Given the description of an element on the screen output the (x, y) to click on. 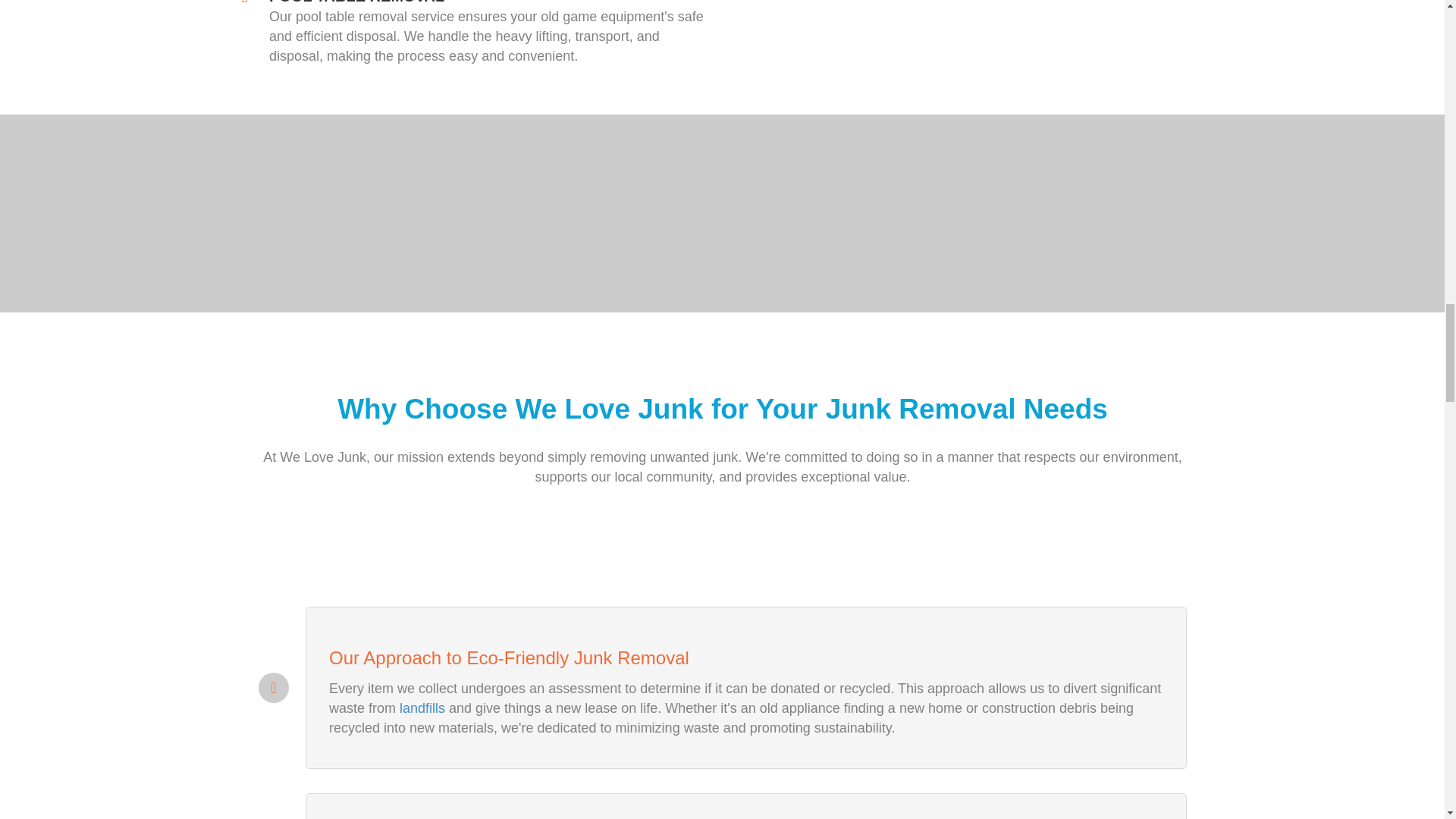
light-demolition (967, 5)
